Given the description of an element on the screen output the (x, y) to click on. 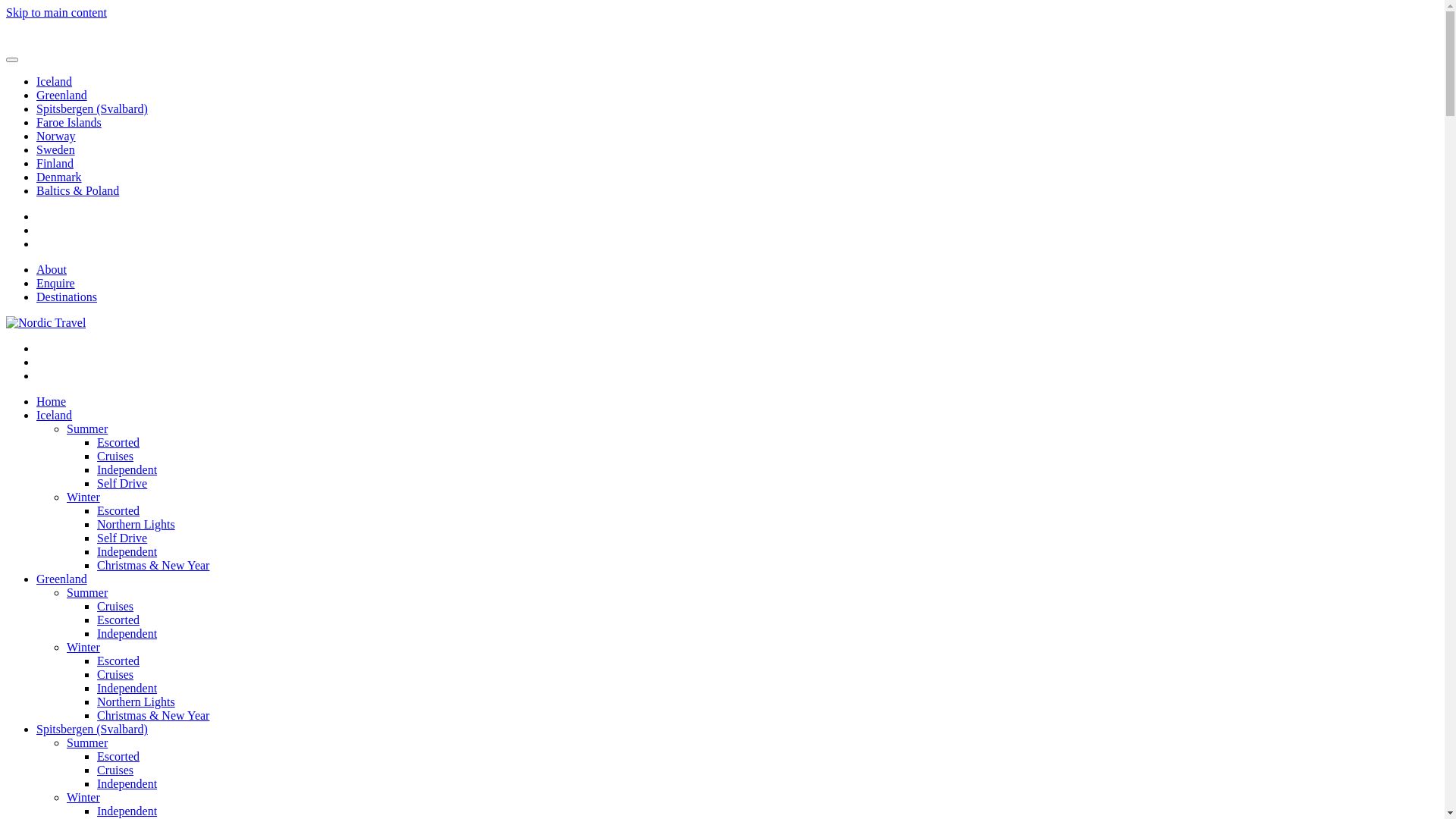
Winter Element type: text (83, 496)
Self Drive Element type: text (122, 537)
Finland Element type: text (54, 162)
Escorted Element type: text (118, 755)
Escorted Element type: text (118, 510)
Iceland Element type: text (54, 81)
Cruises Element type: text (115, 674)
Winter Element type: text (83, 646)
Greenland Element type: text (61, 94)
Christmas & New Year Element type: text (153, 715)
Northern Lights Element type: text (136, 701)
Escorted Element type: text (118, 660)
Cruises Element type: text (115, 455)
Cruises Element type: text (115, 605)
Enquire Element type: text (55, 282)
Escorted Element type: text (118, 619)
Spitsbergen (Svalbard) Element type: text (91, 728)
Independent Element type: text (126, 469)
Baltics & Poland Element type: text (77, 190)
Independent Element type: text (126, 551)
Home Element type: text (50, 401)
Faroe Islands Element type: text (68, 122)
Northern Lights Element type: text (136, 523)
Skip to main content Element type: text (56, 12)
Summer Element type: text (86, 592)
Summer Element type: text (86, 428)
Winter Element type: text (83, 796)
About Element type: text (51, 269)
Destinations Element type: text (66, 296)
Sweden Element type: text (55, 149)
Independent Element type: text (126, 633)
Independent Element type: text (126, 687)
Christmas & New Year Element type: text (153, 564)
Summer Element type: text (86, 742)
Independent Element type: text (126, 783)
Iceland Element type: text (54, 414)
Greenland Element type: text (61, 578)
Escorted Element type: text (118, 442)
Denmark Element type: text (58, 176)
Norway Element type: text (55, 135)
Cruises Element type: text (115, 769)
Self Drive Element type: text (122, 482)
Spitsbergen (Svalbard) Element type: text (91, 108)
Independent Element type: text (126, 810)
